Given the description of an element on the screen output the (x, y) to click on. 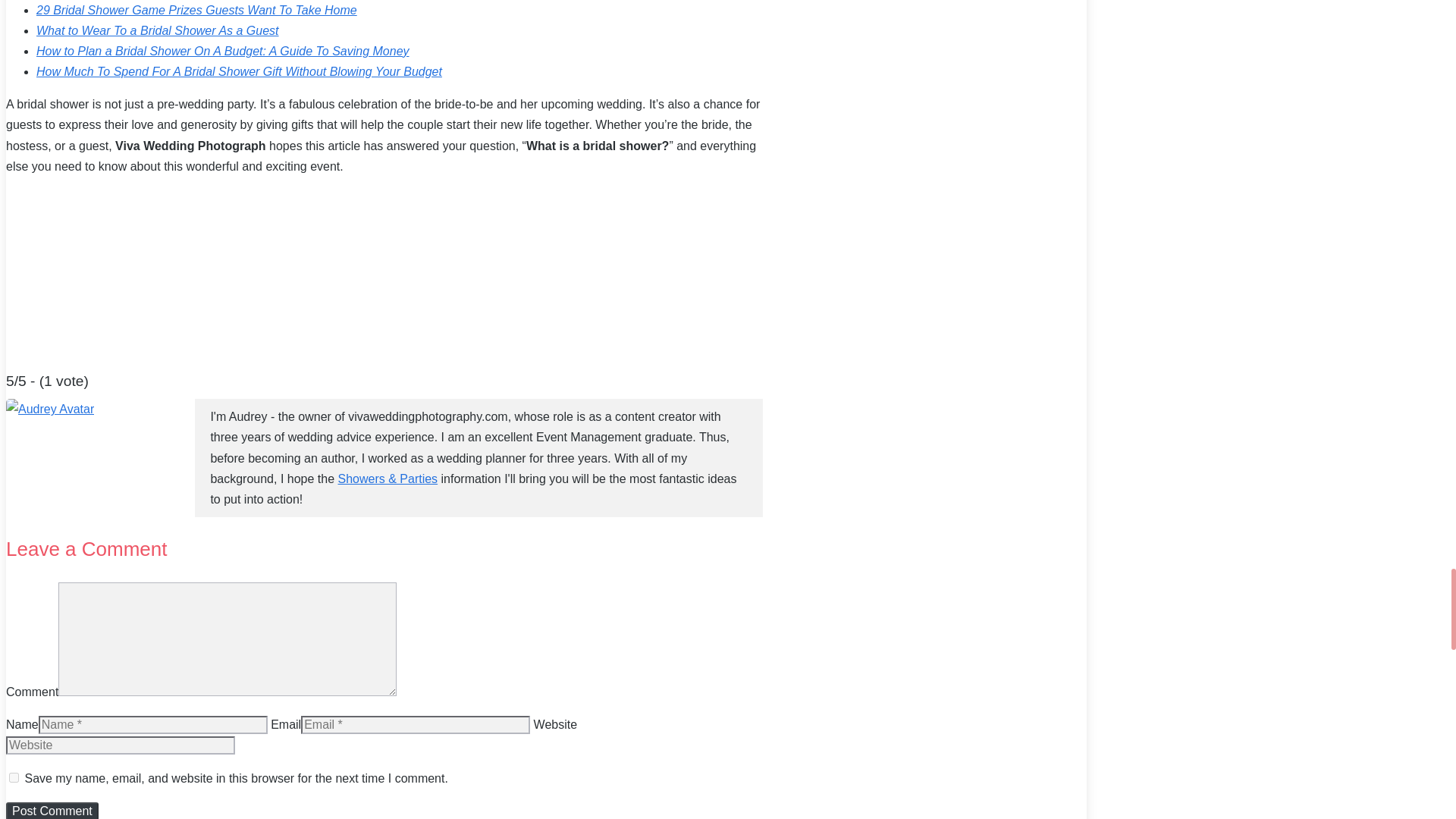
yes (13, 777)
Post Comment (52, 810)
